Given the description of an element on the screen output the (x, y) to click on. 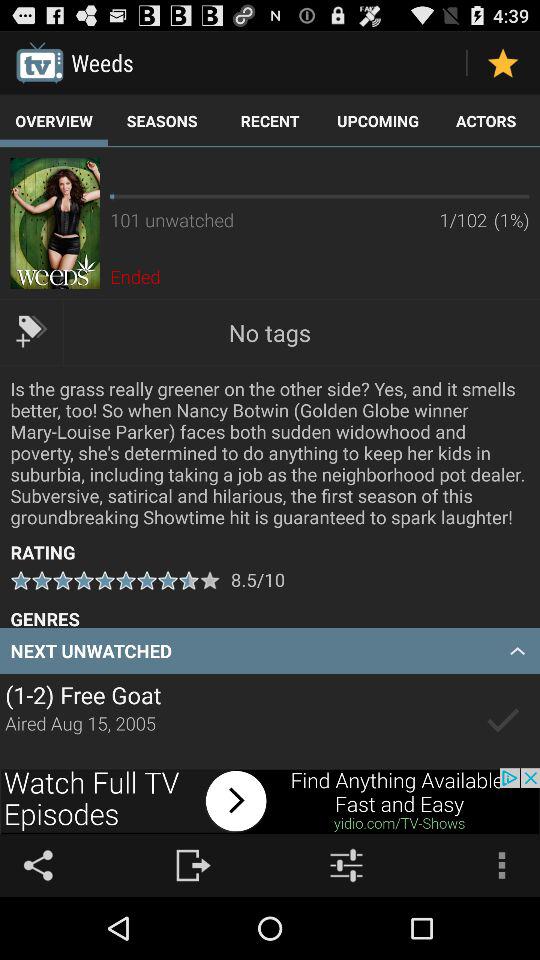
see more about weeds (54, 223)
